Given the description of an element on the screen output the (x, y) to click on. 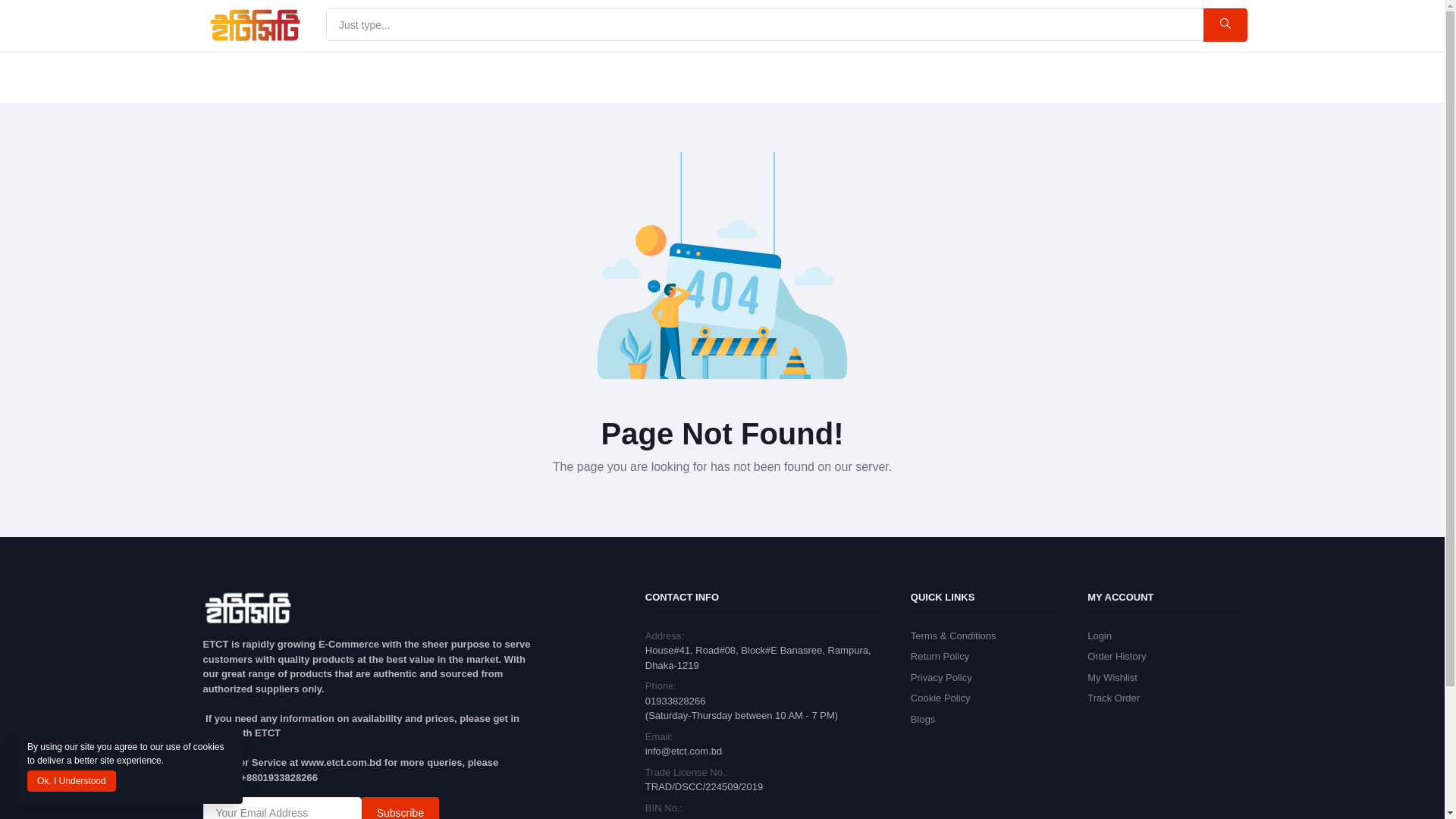
Terms & Conditions Element type: text (953, 635)
Order History Element type: text (1116, 656)
Ok. I Understood Element type: text (71, 780)
Cookie Policy Element type: text (940, 697)
Blogs Element type: text (922, 718)
Privacy Policy Element type: text (941, 677)
Return Policy Element type: text (939, 656)
My Wishlist Element type: text (1112, 677)
info@etct.com.bd Element type: text (683, 750)
Login Element type: text (1099, 635)
Track Order Element type: text (1113, 697)
